Given the description of an element on the screen output the (x, y) to click on. 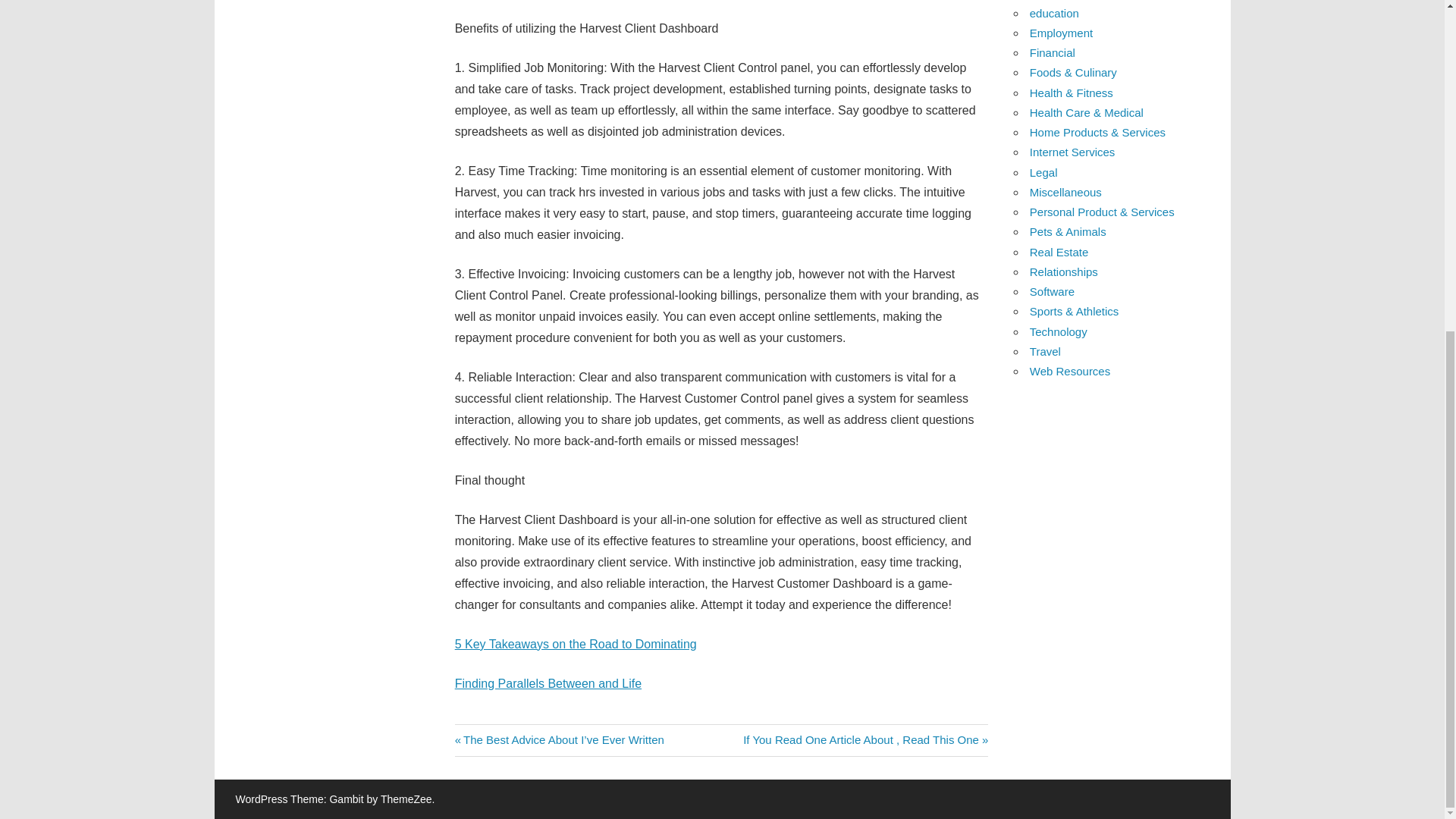
education (1053, 12)
Financial (865, 739)
Finding Parallels Between and Life (1052, 51)
Legal (548, 683)
Employment (1043, 172)
5 Key Takeaways on the Road to Dominating (1061, 32)
Internet Services (575, 644)
Miscellaneous (1072, 151)
